Given the description of an element on the screen output the (x, y) to click on. 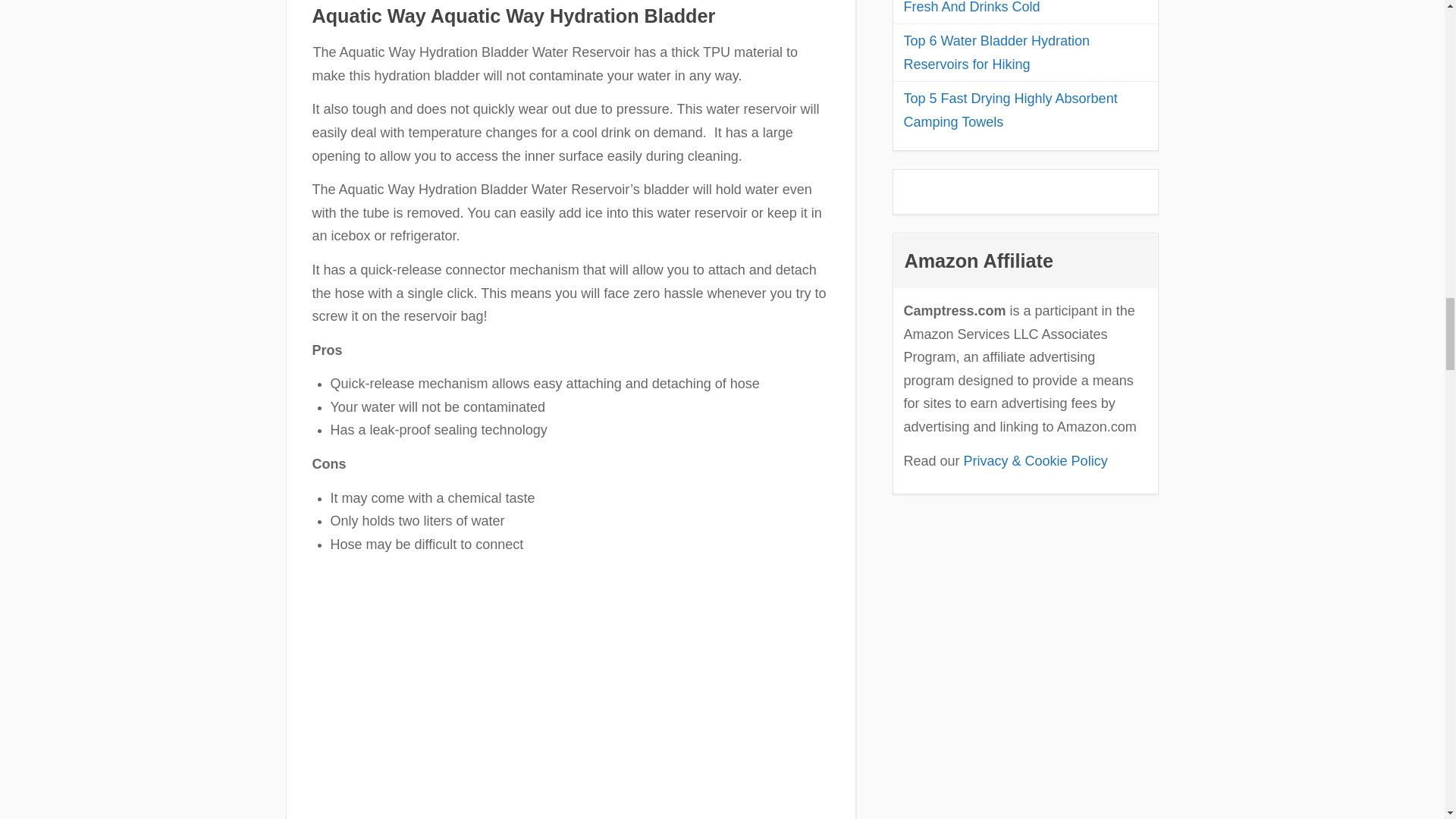
Aquatic Way Aquatic Way Hydration Bladder (514, 15)
